Given the description of an element on the screen output the (x, y) to click on. 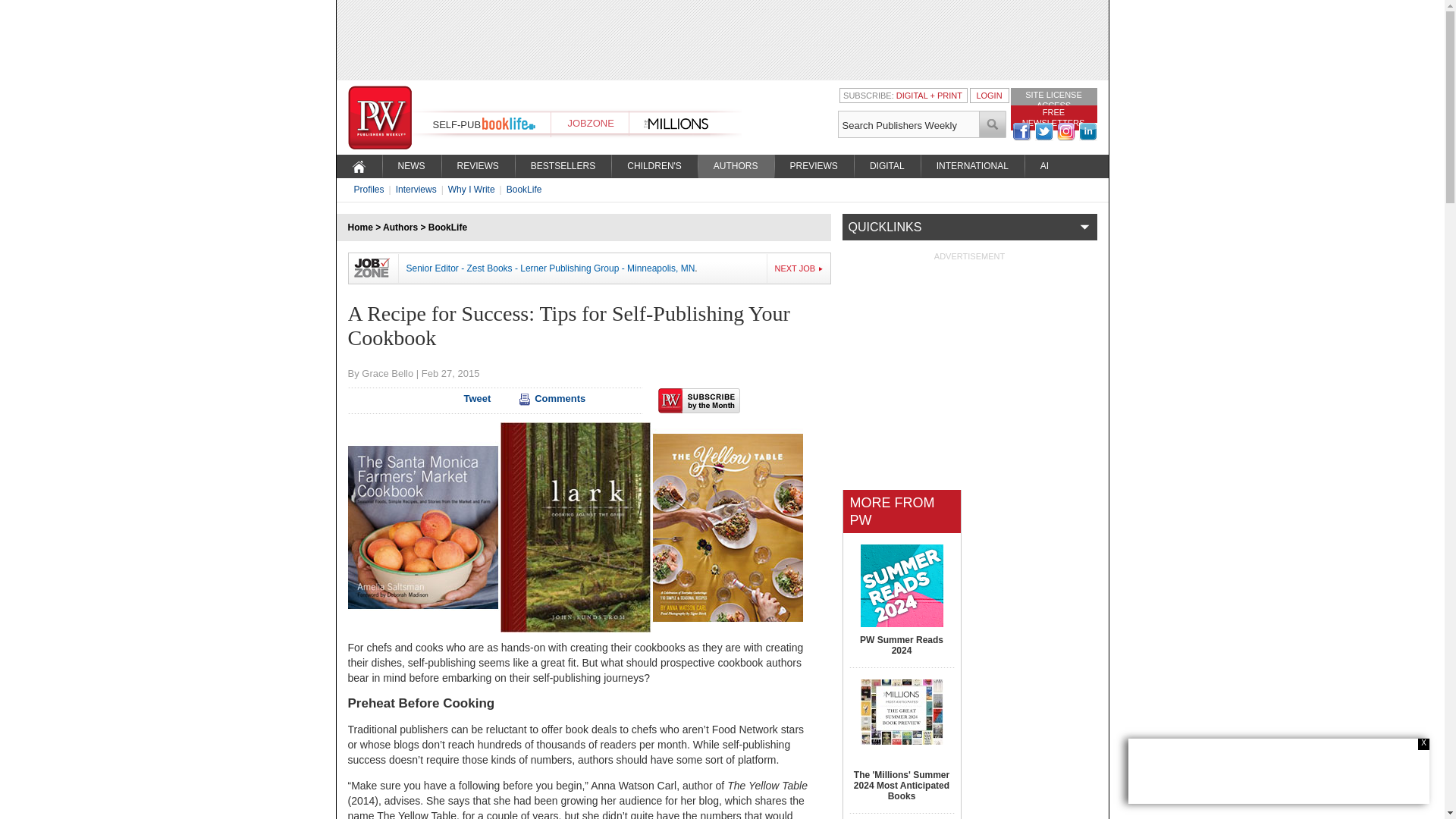
submit (992, 124)
3rd party ad content (1278, 770)
LOGIN (988, 94)
JOBZONE (589, 122)
3rd party ad content (721, 38)
SITE LICENSE ACCESS (1053, 99)
3rd party ad content (969, 357)
BookLife (447, 226)
Home (359, 226)
Authors (399, 226)
NEXT JOB (799, 267)
FREE NEWSLETTERS (1053, 117)
SELF-PUB (456, 124)
Search Publishers Weekly (907, 124)
